Given the description of an element on the screen output the (x, y) to click on. 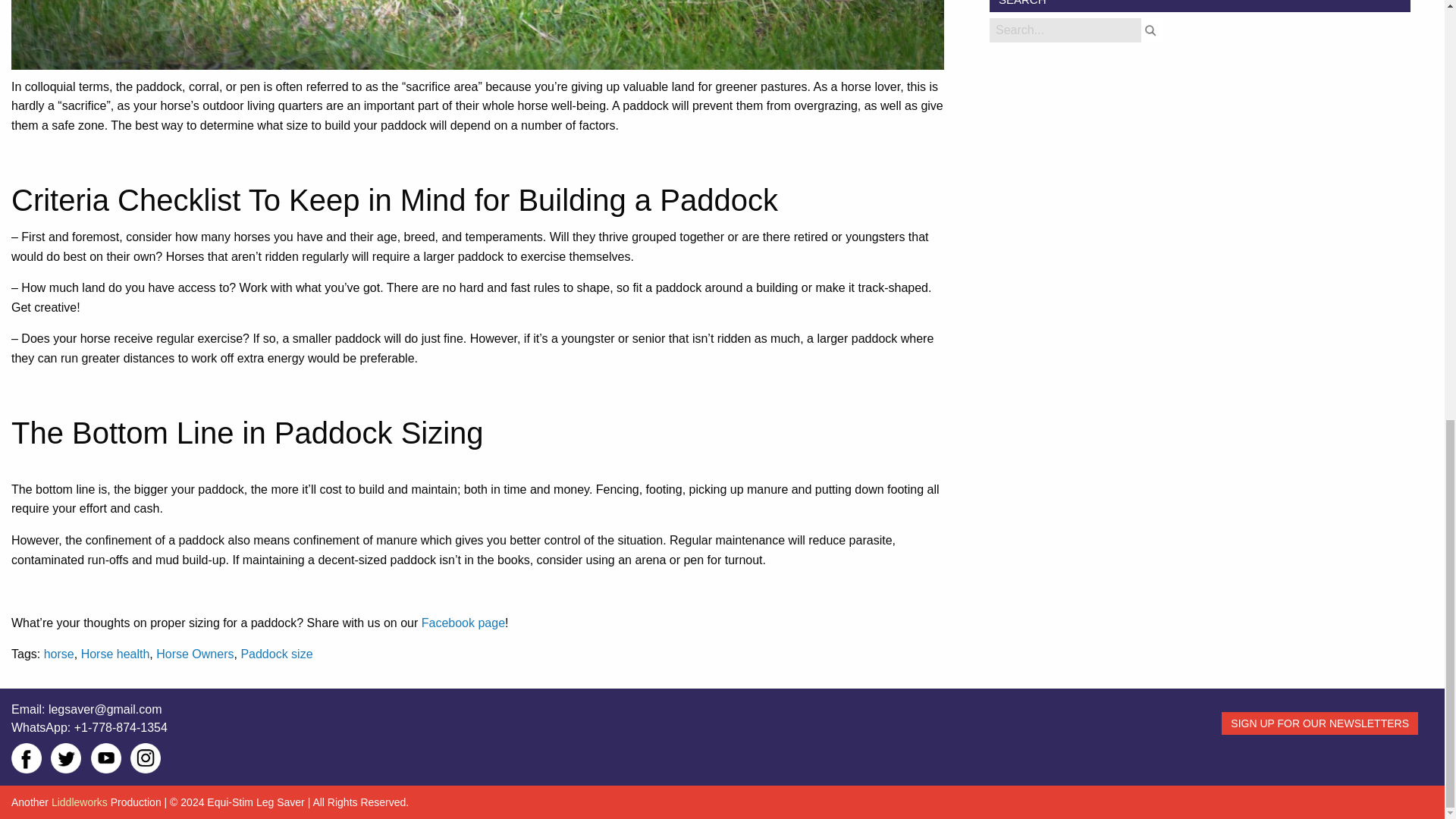
Horse health (115, 653)
Facebook page (463, 622)
horse (58, 653)
Paddock size (276, 653)
Twitter (65, 757)
YouTube (105, 757)
Instagram (145, 757)
Facebook (26, 757)
Horse Owners (193, 653)
Search for: (1065, 30)
